Given the description of an element on the screen output the (x, y) to click on. 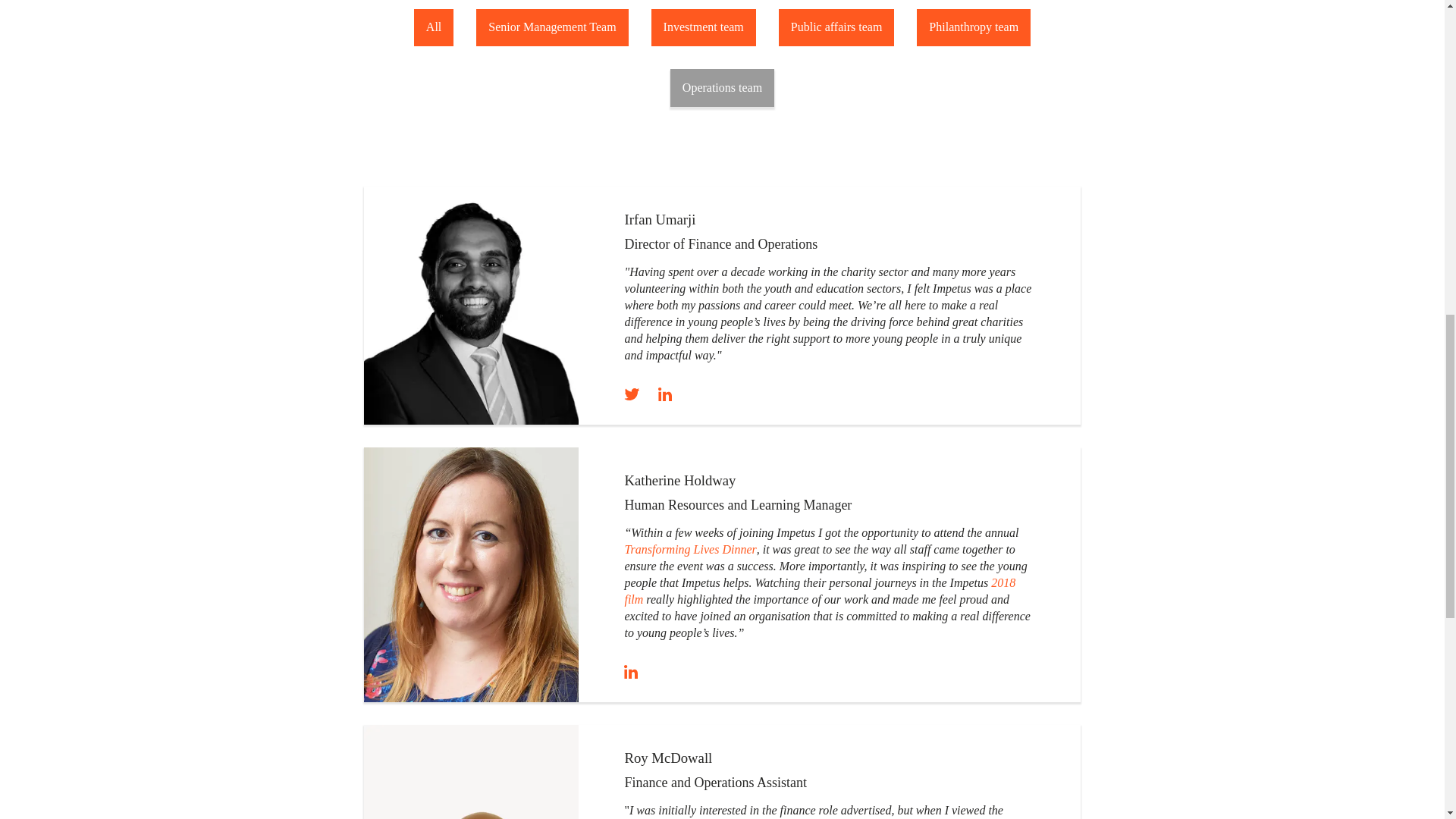
Senior Management Team (551, 27)
Investment team (702, 27)
All (432, 27)
